Given the description of an element on the screen output the (x, y) to click on. 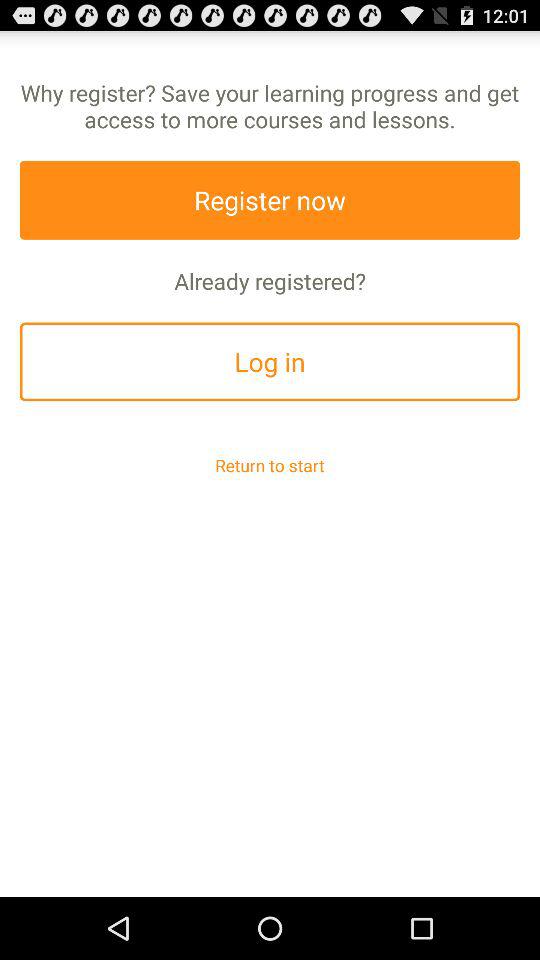
jump until return to start item (269, 464)
